Given the description of an element on the screen output the (x, y) to click on. 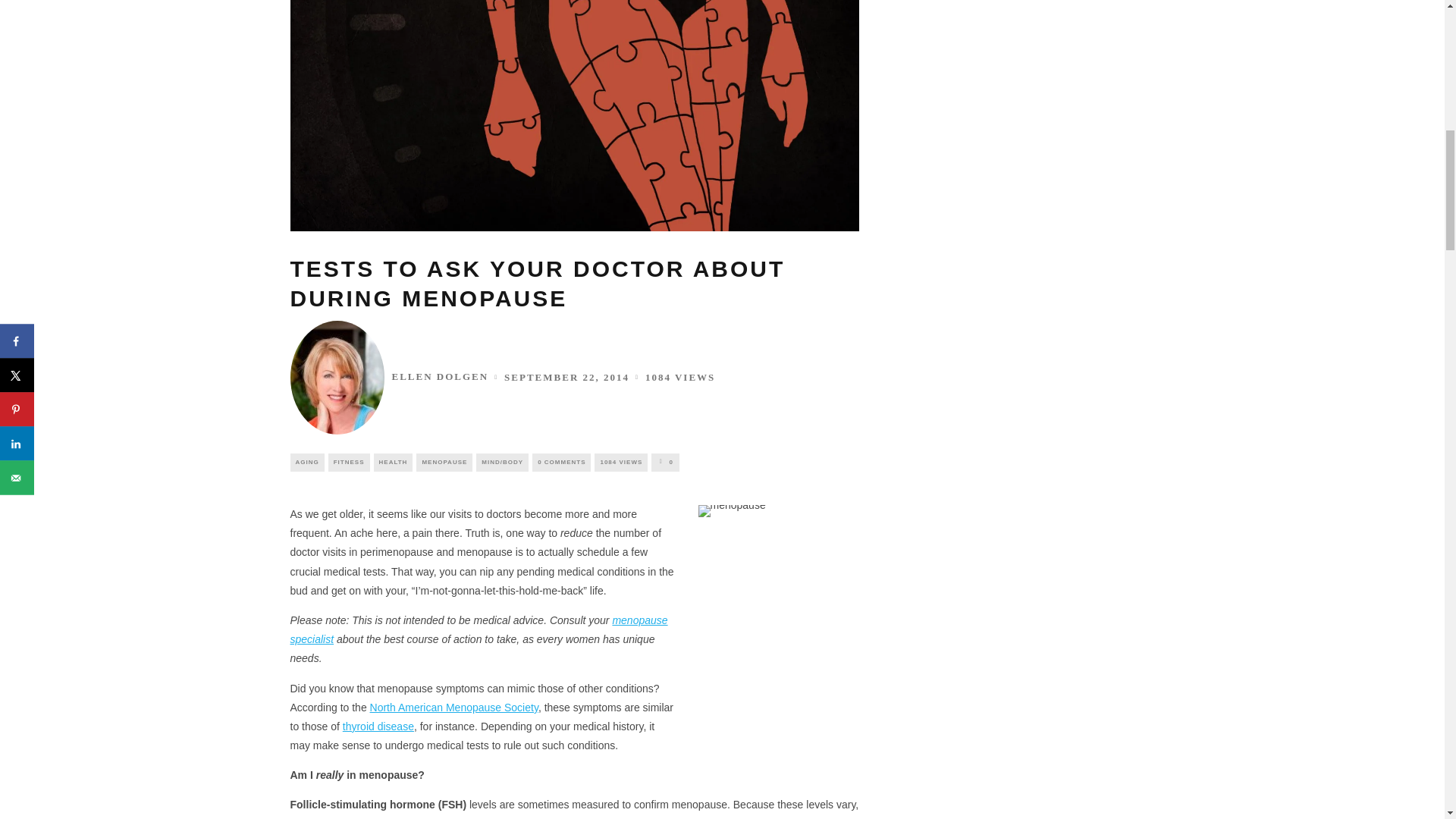
View all posts in Fitness (349, 462)
View all posts in Health (393, 462)
View all posts in Menopause (443, 462)
View all posts in Aging (306, 462)
